Given the description of an element on the screen output the (x, y) to click on. 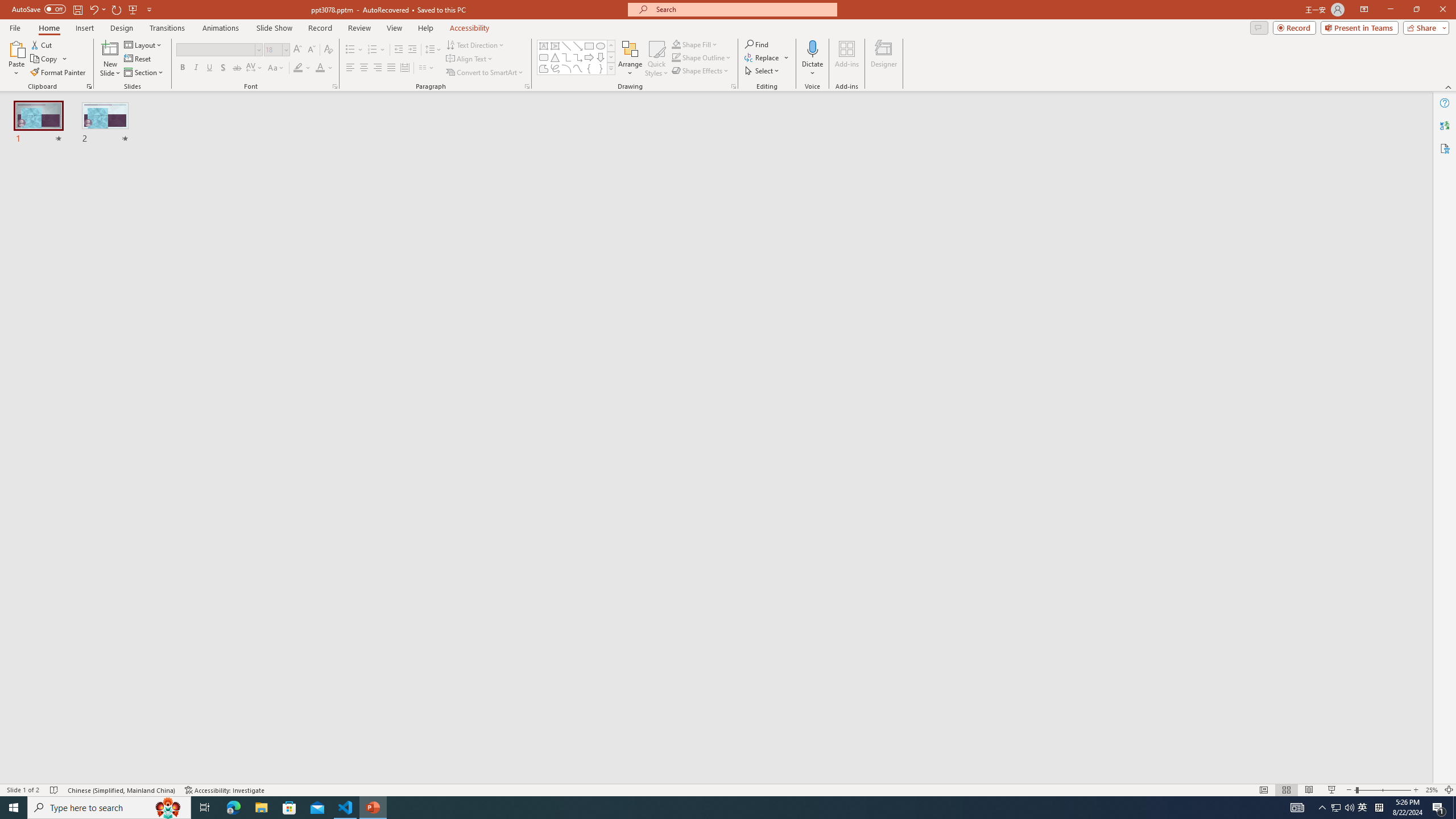
Wikipedia, the free encyclopedia (247, 78)
Explorer (Ctrl+Shift+E) (76, 221)
Toggle Secondary Side Bar (Ctrl+Alt+B) (1015, 150)
Notifications (1034, 766)
Manage (76, 712)
Application Menu (76, 183)
Earth - Wikipedia (23, 448)
Microsoft security help and learning (23, 348)
Toggle Primary Side Bar (Ctrl+B) (963, 150)
